Given the description of an element on the screen output the (x, y) to click on. 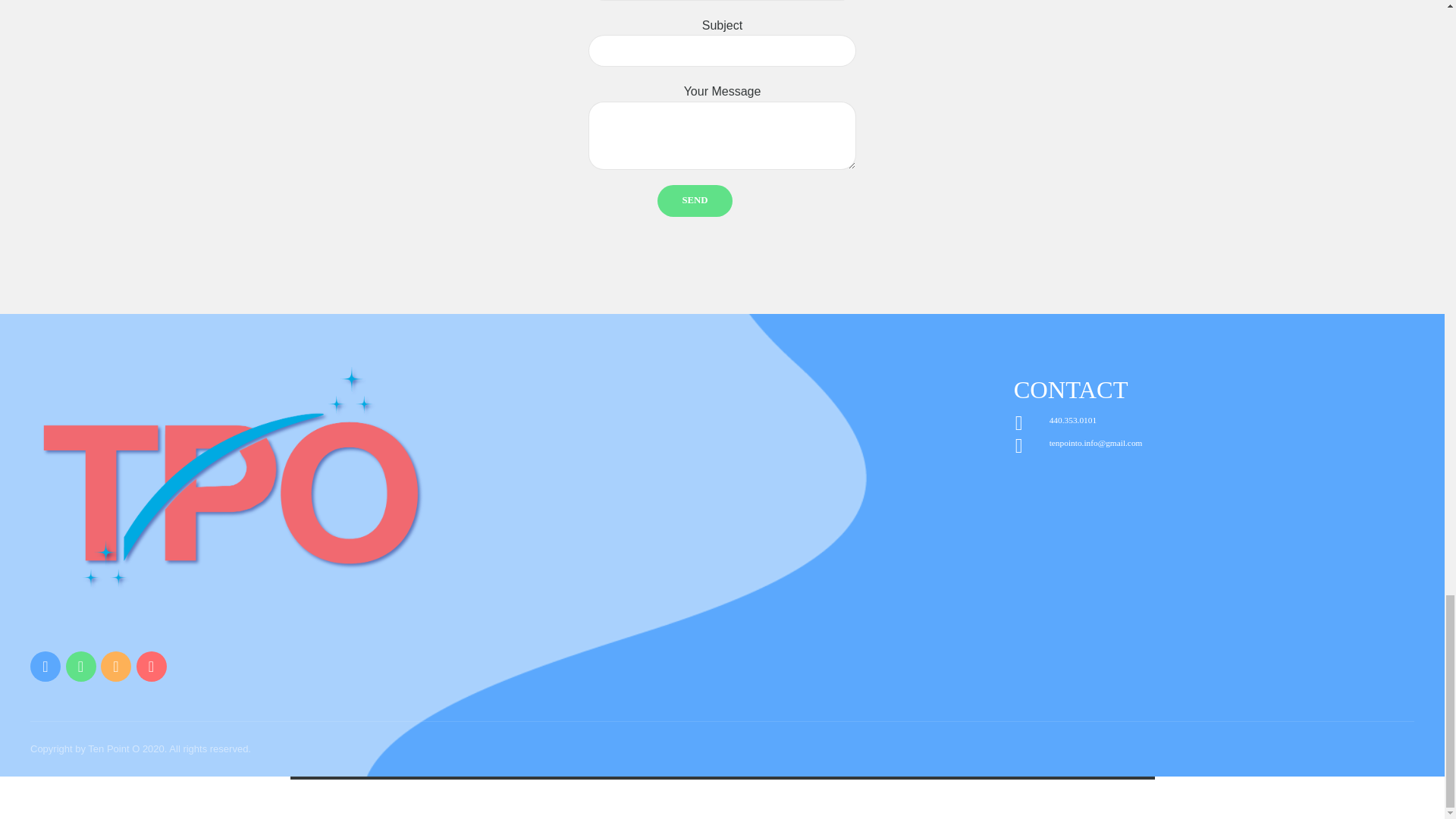
Send (695, 201)
Send (695, 201)
